Given the description of an element on the screen output the (x, y) to click on. 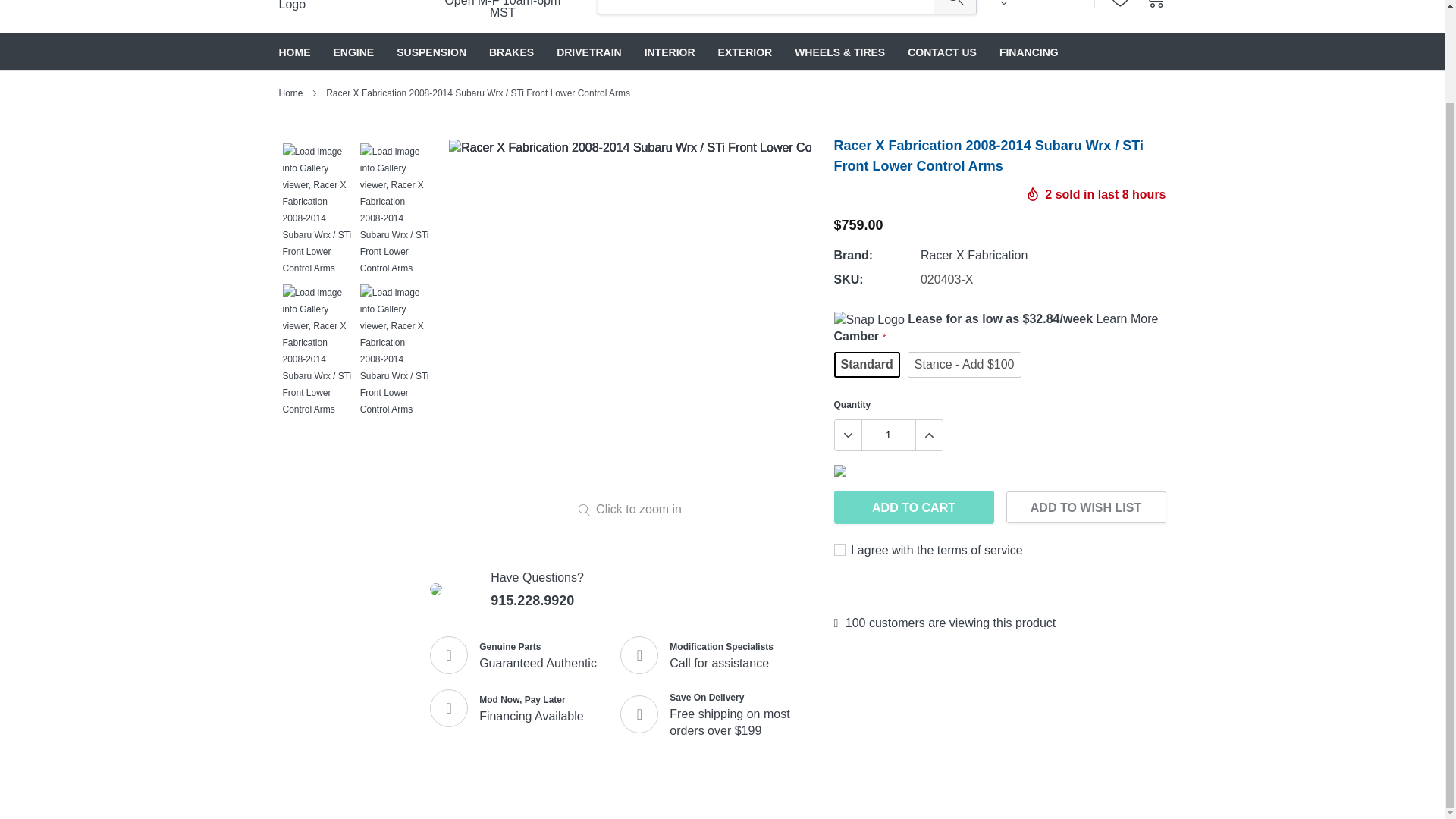
1 (887, 435)
Standard (866, 364)
Racer X Fabrication (973, 254)
search (954, 6)
